Given the description of an element on the screen output the (x, y) to click on. 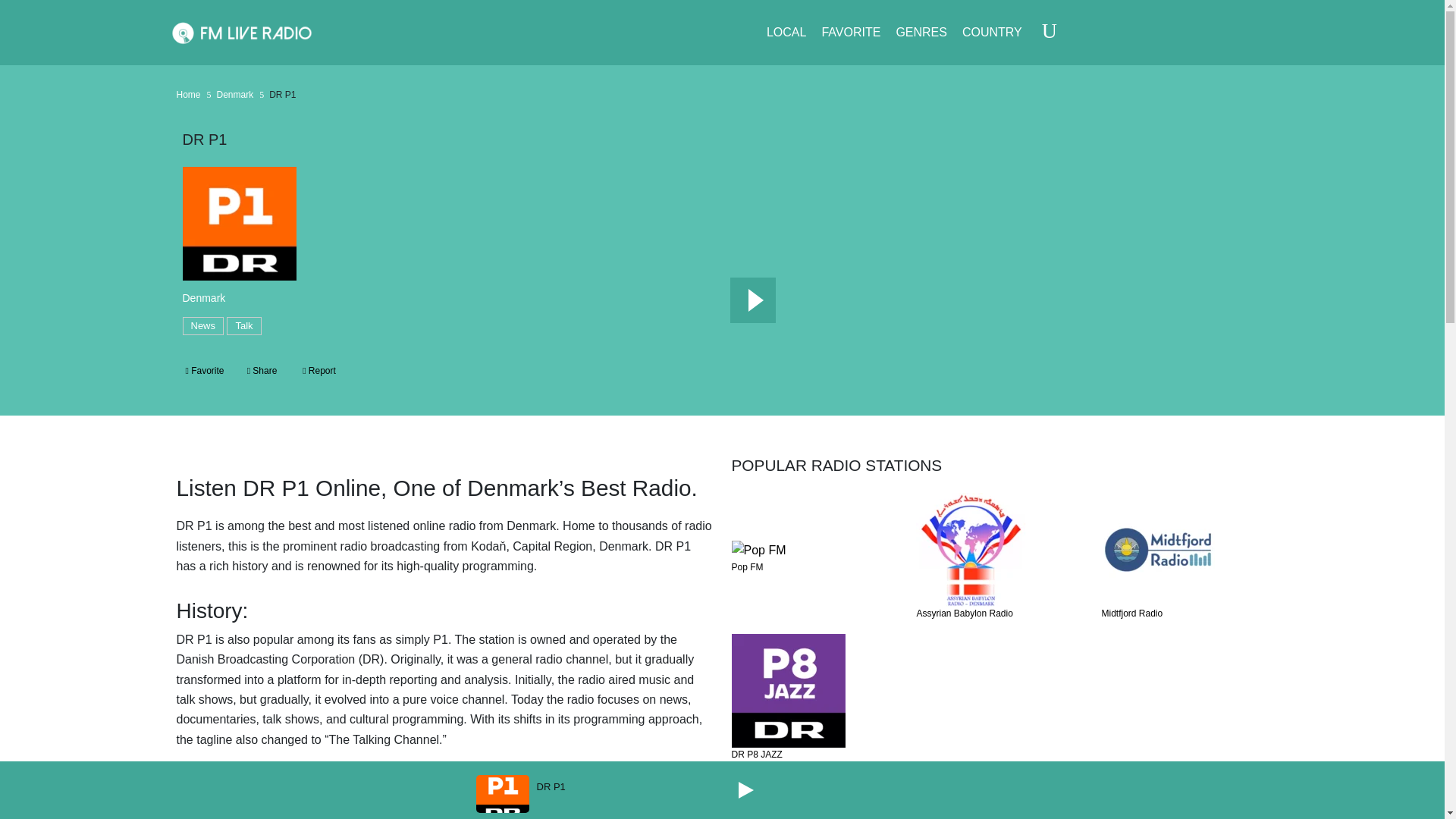
LOCAL (786, 32)
GENRES (921, 32)
Talk (243, 325)
DR P1 (551, 786)
Home (188, 95)
COUNTRY (992, 32)
News (203, 325)
Denmark (234, 95)
Assyrian Babylon Radio (999, 613)
Denmark (203, 298)
Midtfjord Radio (1184, 613)
FAVORITE (850, 32)
Pop FM (814, 567)
